Given the description of an element on the screen output the (x, y) to click on. 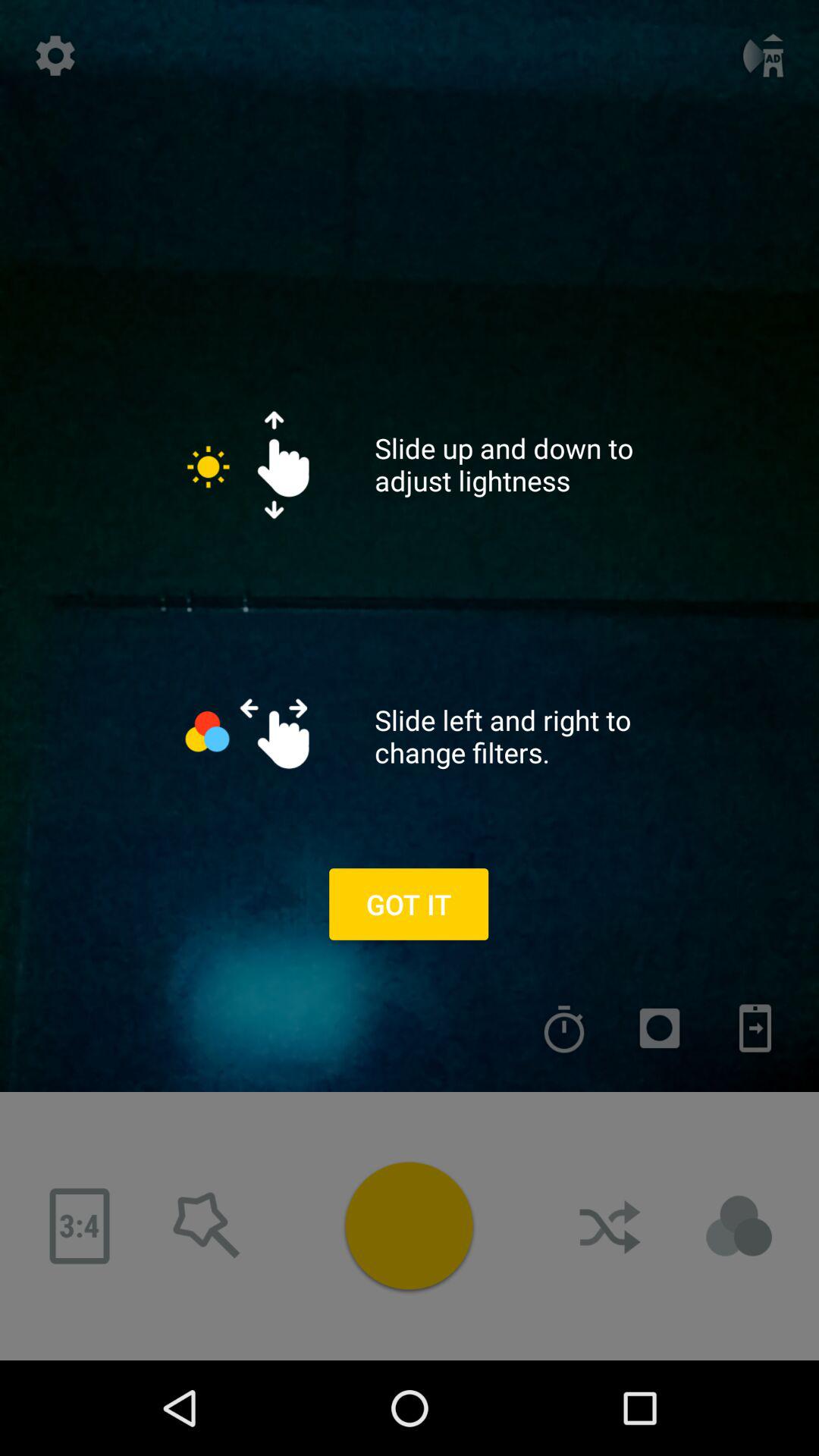
remainder or alaram (563, 1028)
